Given the description of an element on the screen output the (x, y) to click on. 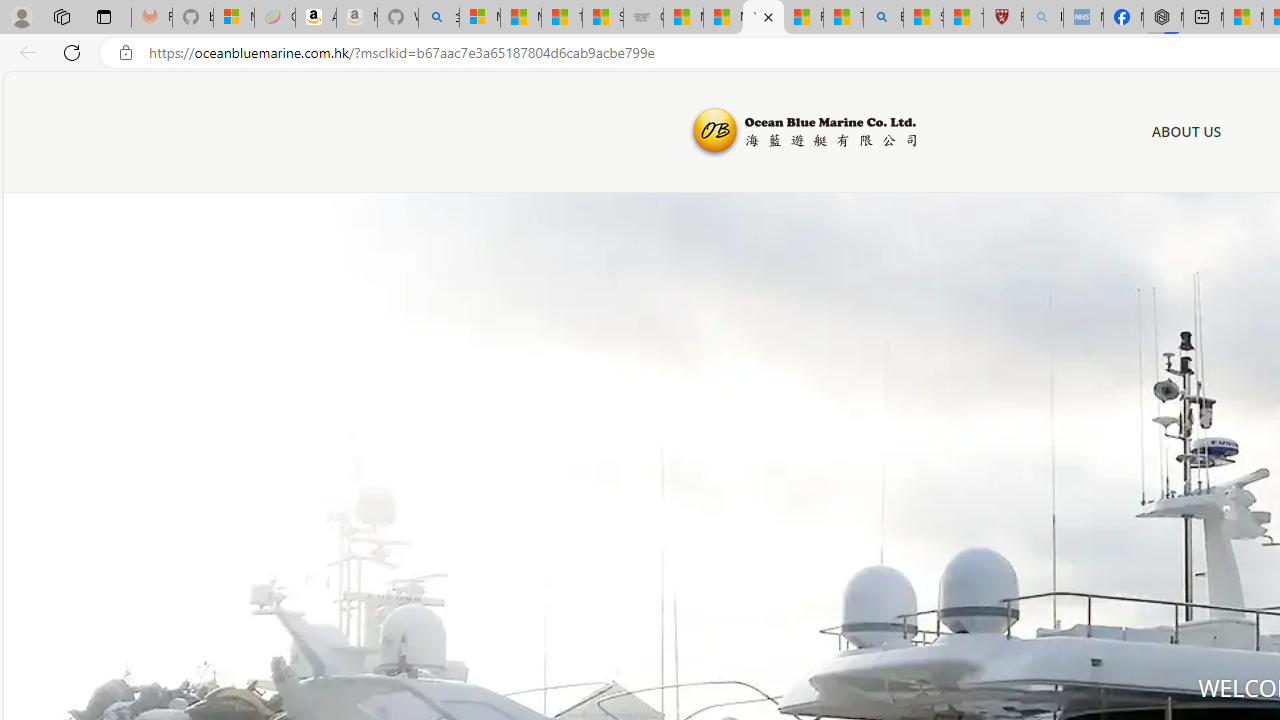
Stocks - MSN (602, 17)
12 Popular Science Lies that Must be Corrected (963, 17)
Combat Siege (643, 17)
